Given the description of an element on the screen output the (x, y) to click on. 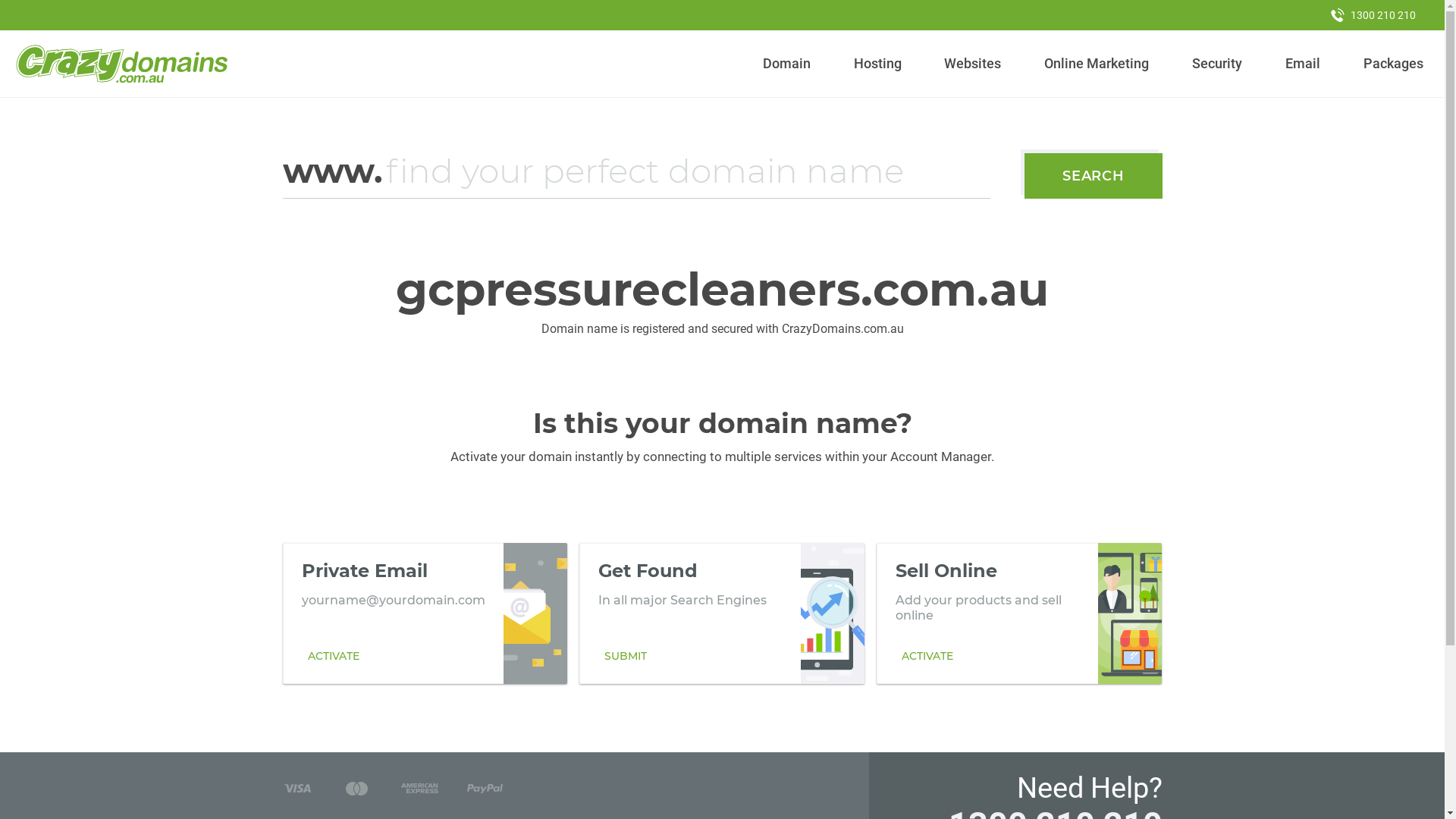
Private Email
yourname@yourdomain.com
ACTIVATE Element type: text (424, 613)
Email Element type: text (1302, 63)
Sell Online
Add your products and sell online
ACTIVATE Element type: text (1018, 613)
Online Marketing Element type: text (1096, 63)
Websites Element type: text (972, 63)
Hosting Element type: text (877, 63)
Security Element type: text (1217, 63)
Get Found
In all major Search Engines
SUBMIT Element type: text (721, 613)
1300 210 210 Element type: text (1373, 15)
SEARCH Element type: text (1092, 175)
Domain Element type: text (786, 63)
Packages Element type: text (1392, 63)
